Given the description of an element on the screen output the (x, y) to click on. 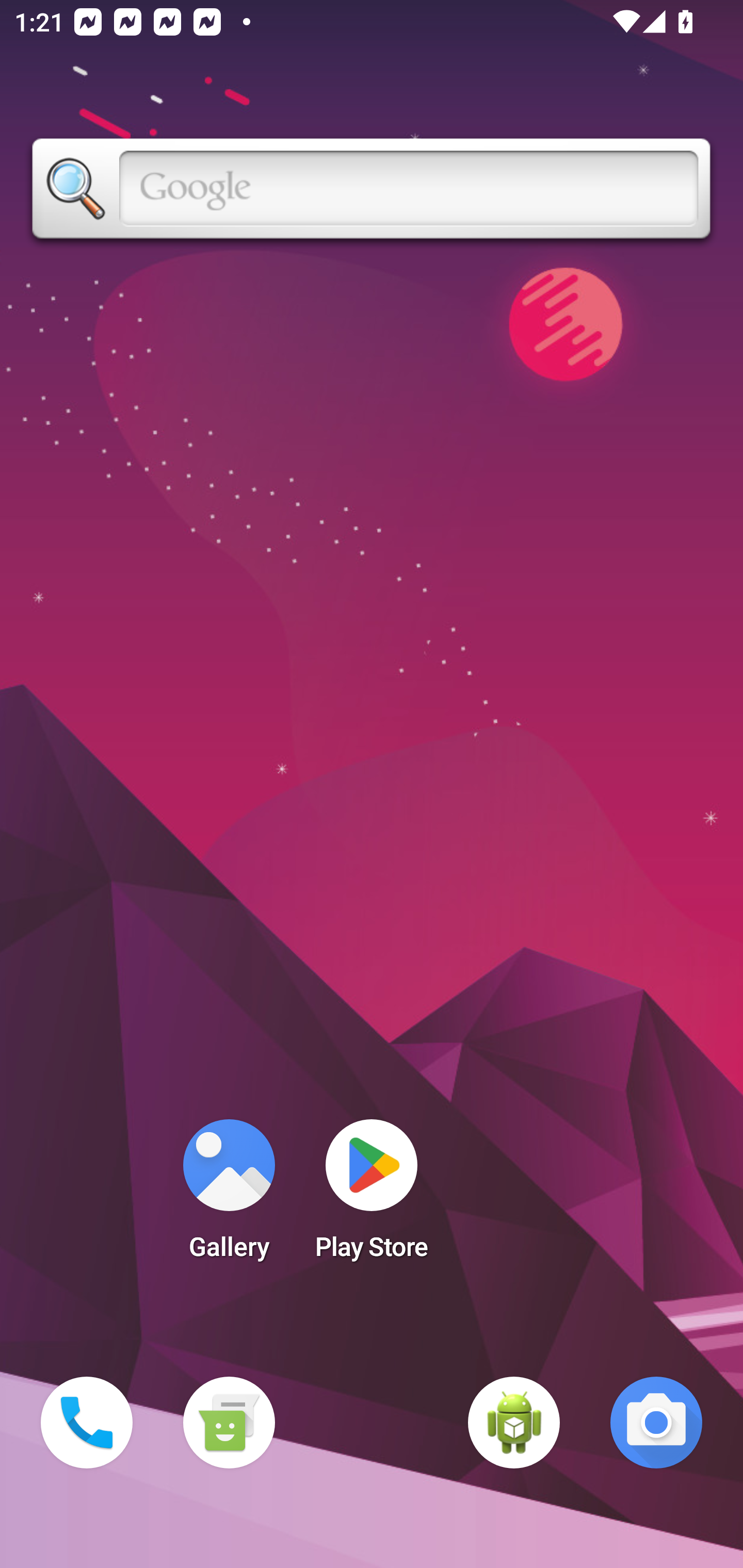
Gallery (228, 1195)
Play Store (371, 1195)
Phone (86, 1422)
Messaging (228, 1422)
WebView Browser Tester (513, 1422)
Camera (656, 1422)
